Given the description of an element on the screen output the (x, y) to click on. 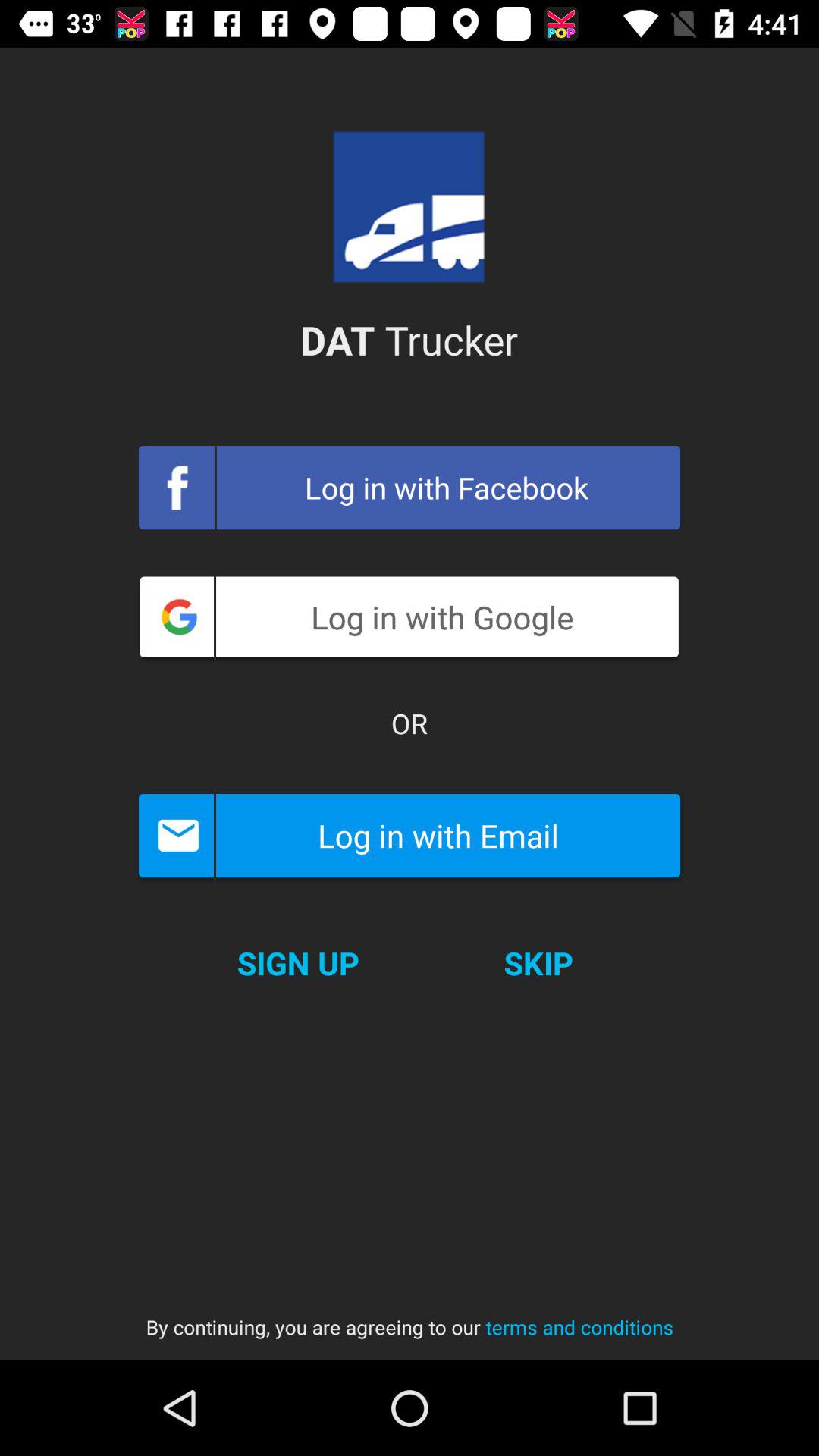
press icon above the log in with (409, 723)
